Given the description of an element on the screen output the (x, y) to click on. 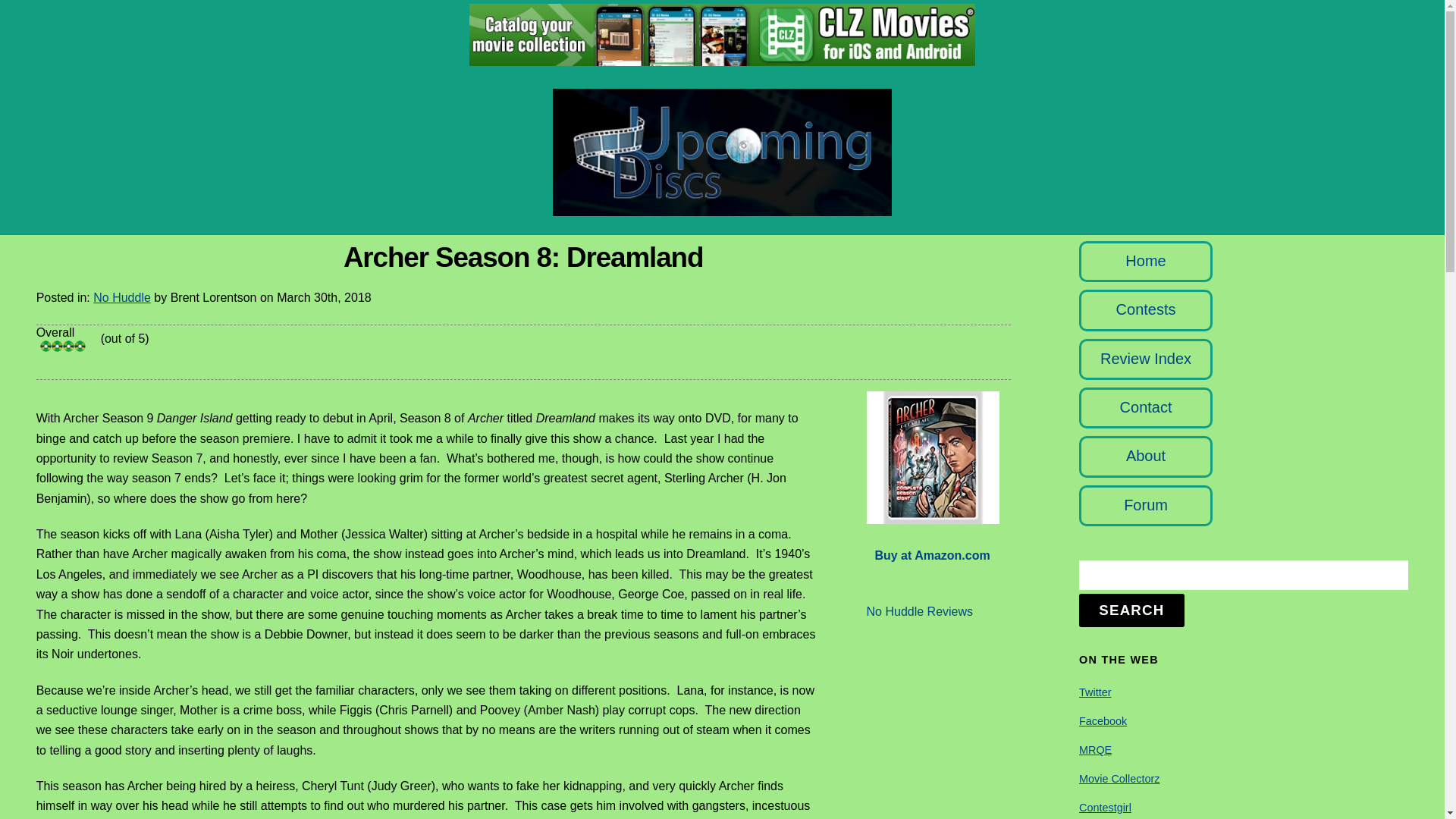
Forum (1145, 504)
Twitter (1094, 692)
SEARCH (1131, 609)
Contestgirl (1104, 807)
UpcomingDiscs.com (722, 208)
MRQE (1095, 749)
Contests (1146, 309)
Facebook (1102, 720)
Search (1242, 574)
Movie Collectorz (1118, 778)
About (1145, 455)
No Huddle (122, 297)
Home (1145, 260)
Buy at Amazon.com (932, 554)
No Huddle Reviews (920, 611)
